Given the description of an element on the screen output the (x, y) to click on. 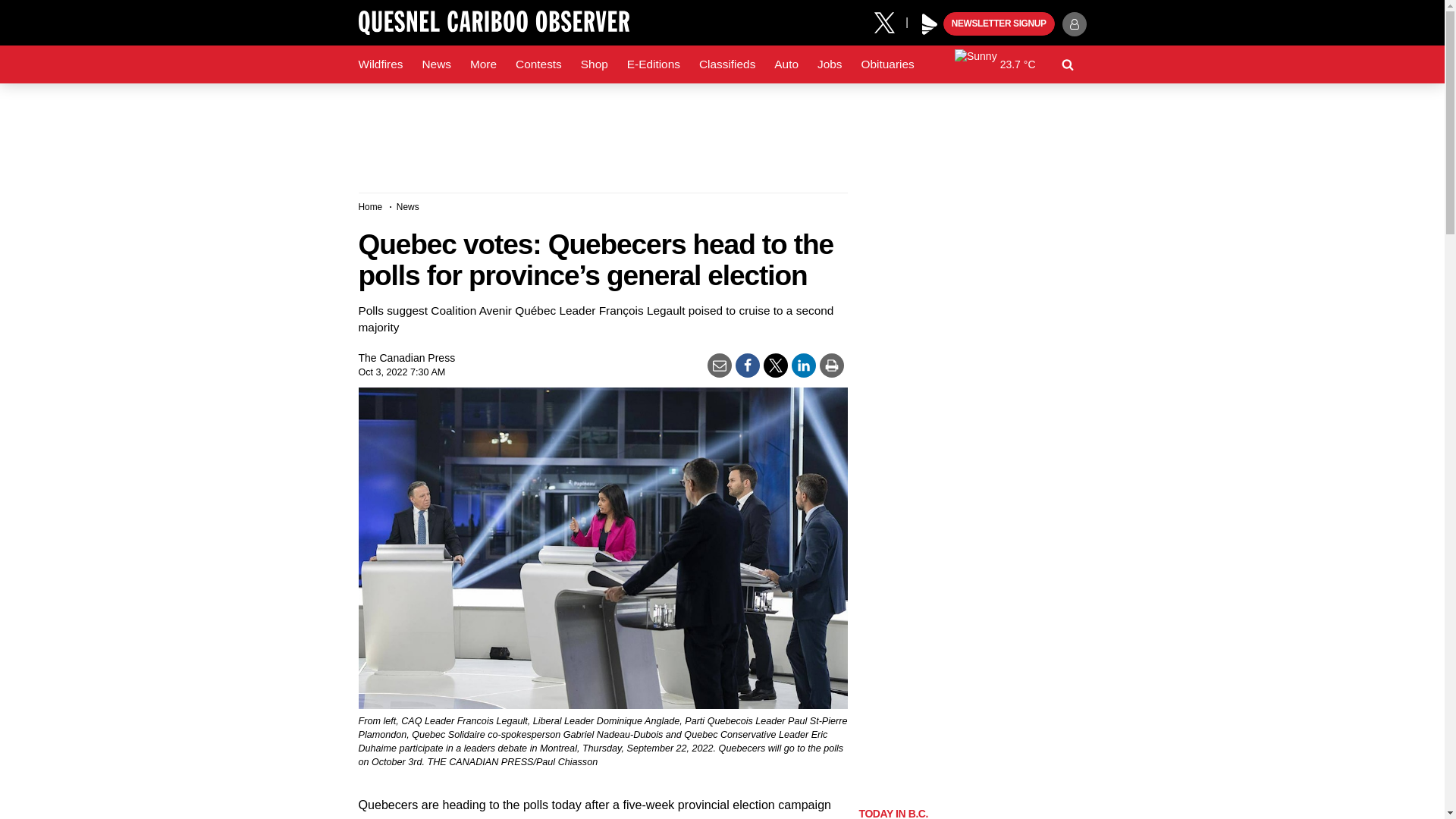
News (435, 64)
NEWSLETTER SIGNUP (998, 24)
Play (929, 24)
X (889, 21)
Black Press Media (929, 24)
Wildfires (380, 64)
